Given the description of an element on the screen output the (x, y) to click on. 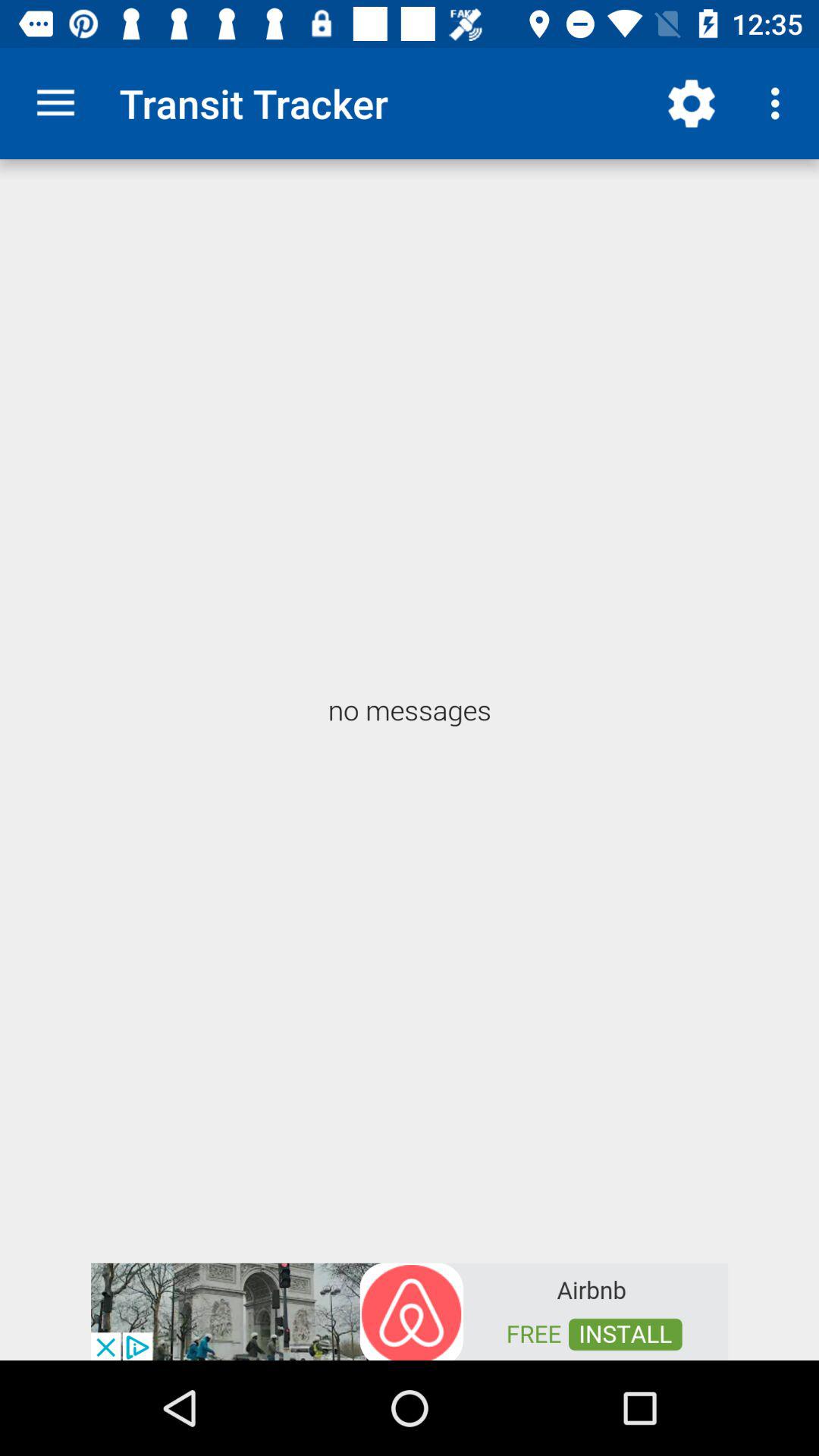
select advertisement (409, 1310)
